Given the description of an element on the screen output the (x, y) to click on. 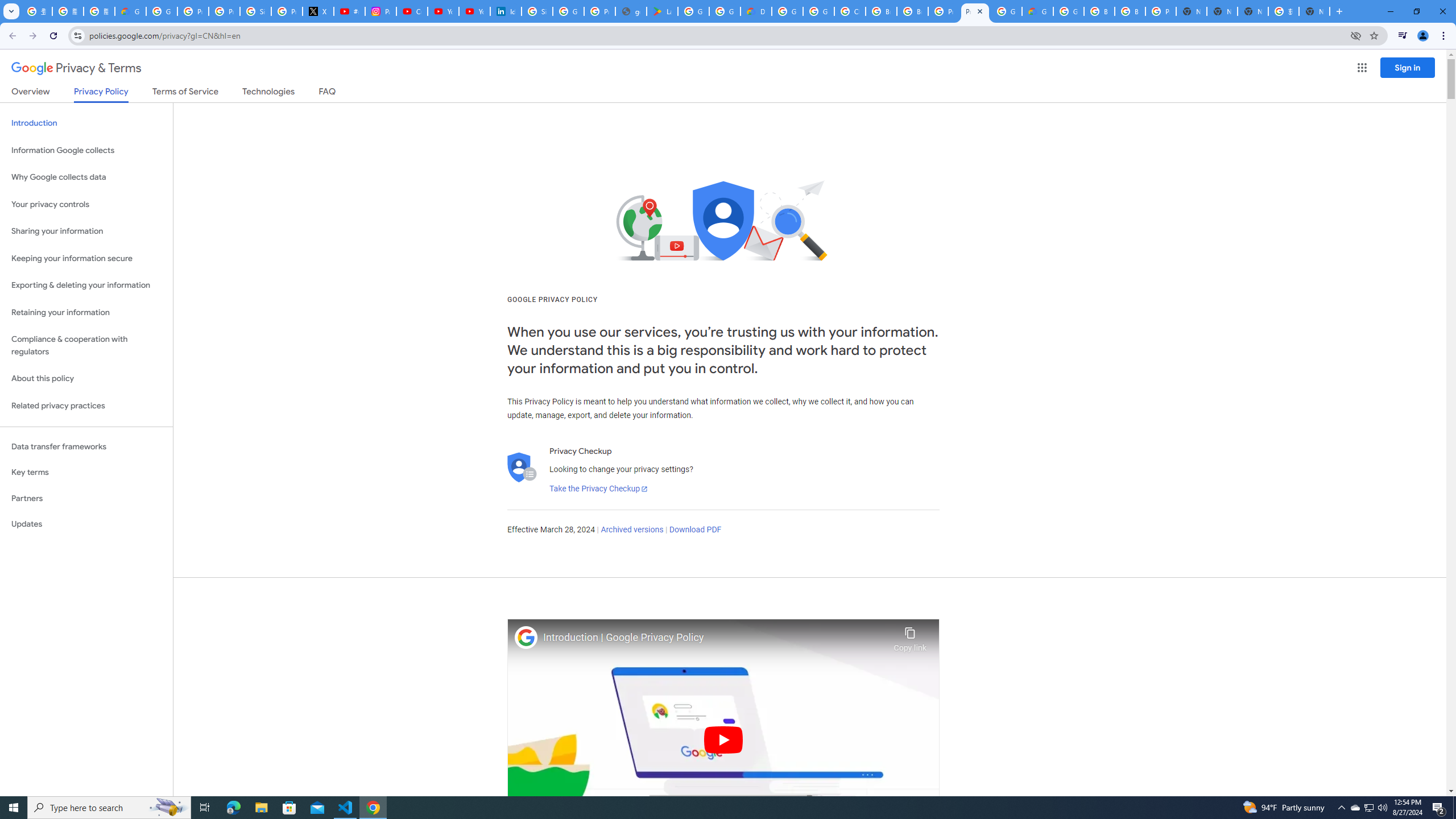
Copy link (909, 636)
Photo image of Google (526, 636)
Browse Chrome as a guest - Computer - Google Chrome Help (1098, 11)
Control your music, videos, and more (1402, 35)
Browse Chrome as a guest - Computer - Google Chrome Help (912, 11)
Exporting & deleting your information (86, 284)
